Given the description of an element on the screen output the (x, y) to click on. 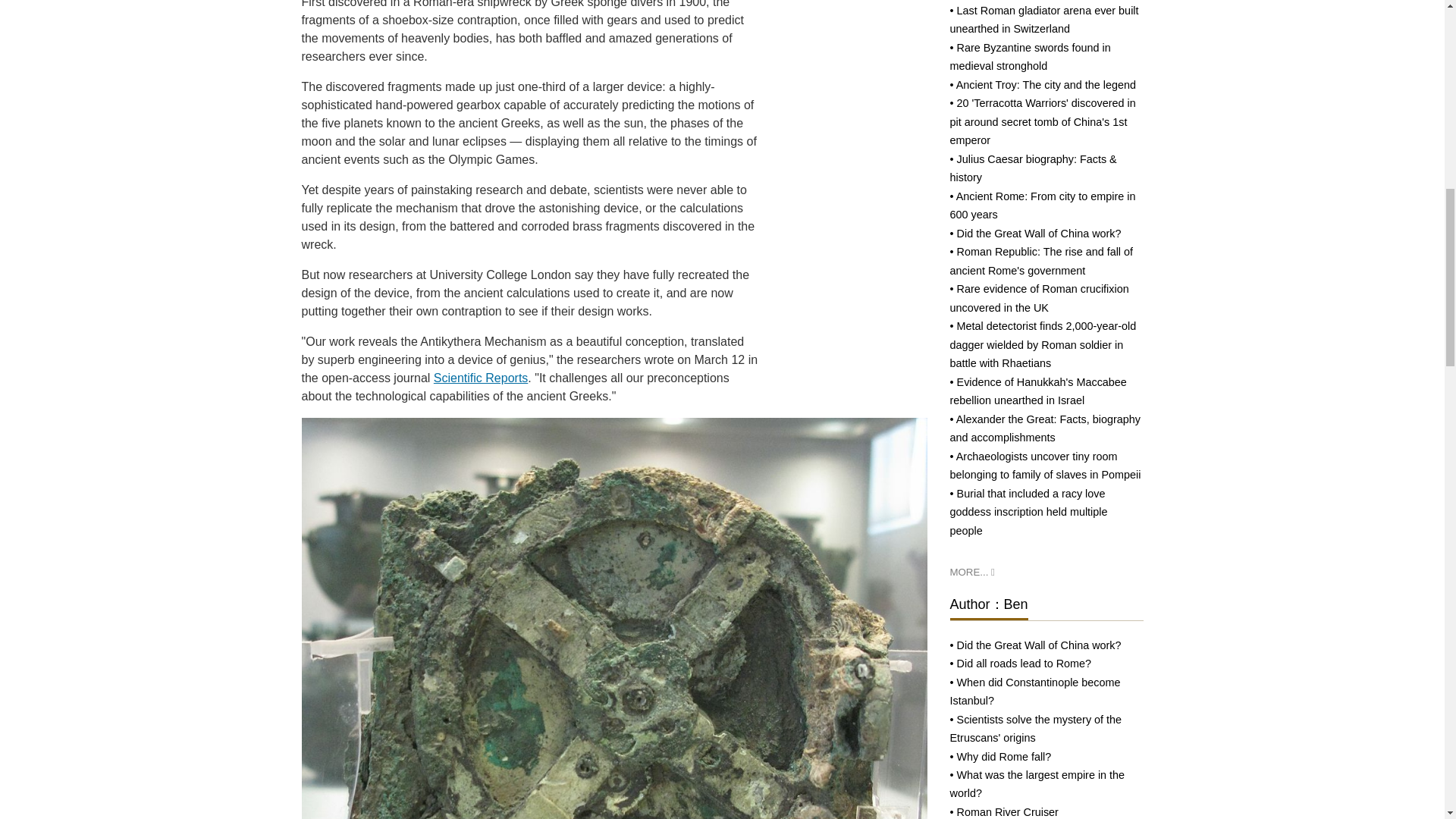
Scientific Reports (480, 377)
